Given the description of an element on the screen output the (x, y) to click on. 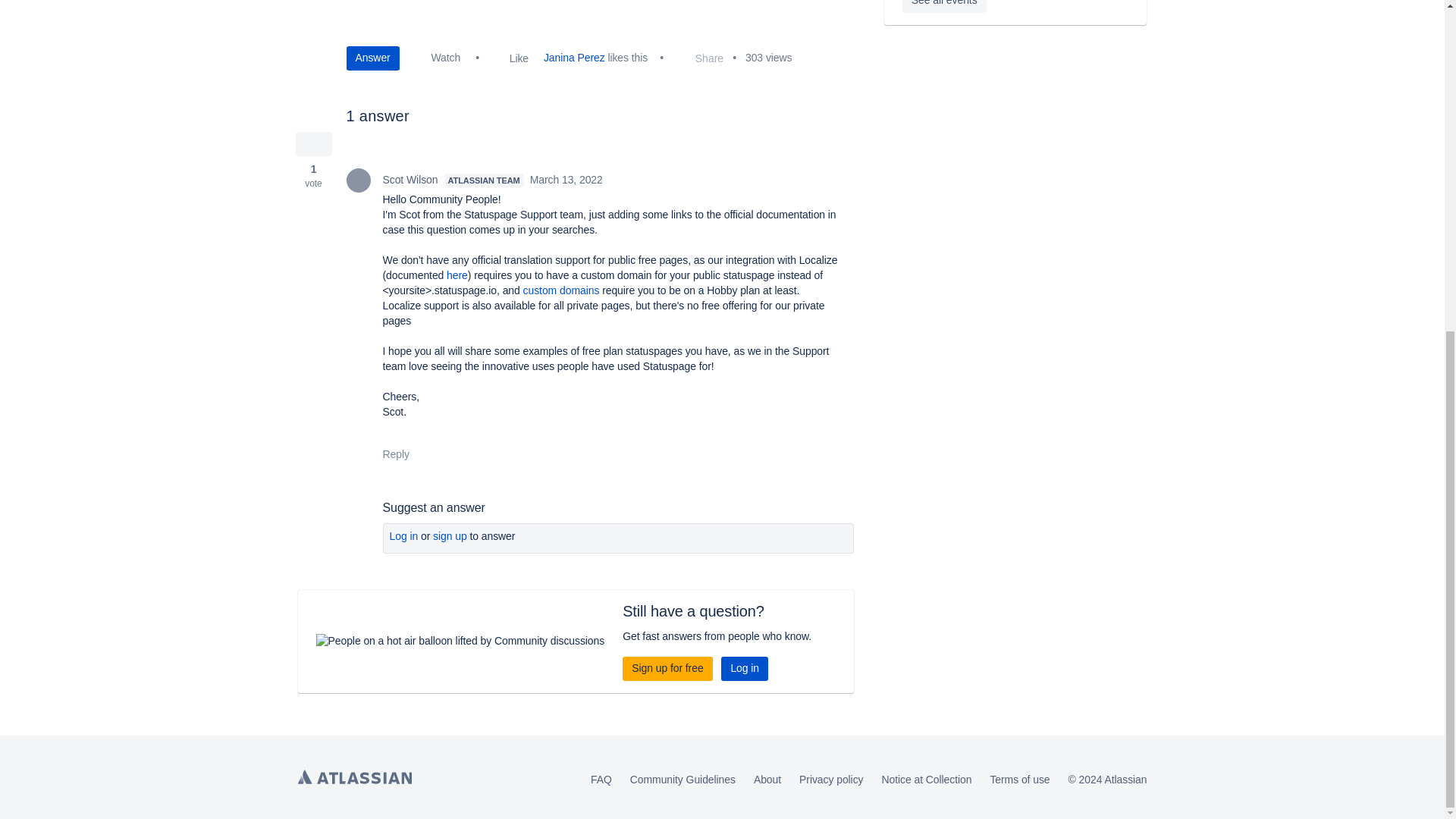
Scot Wilson (357, 180)
